Given the description of an element on the screen output the (x, y) to click on. 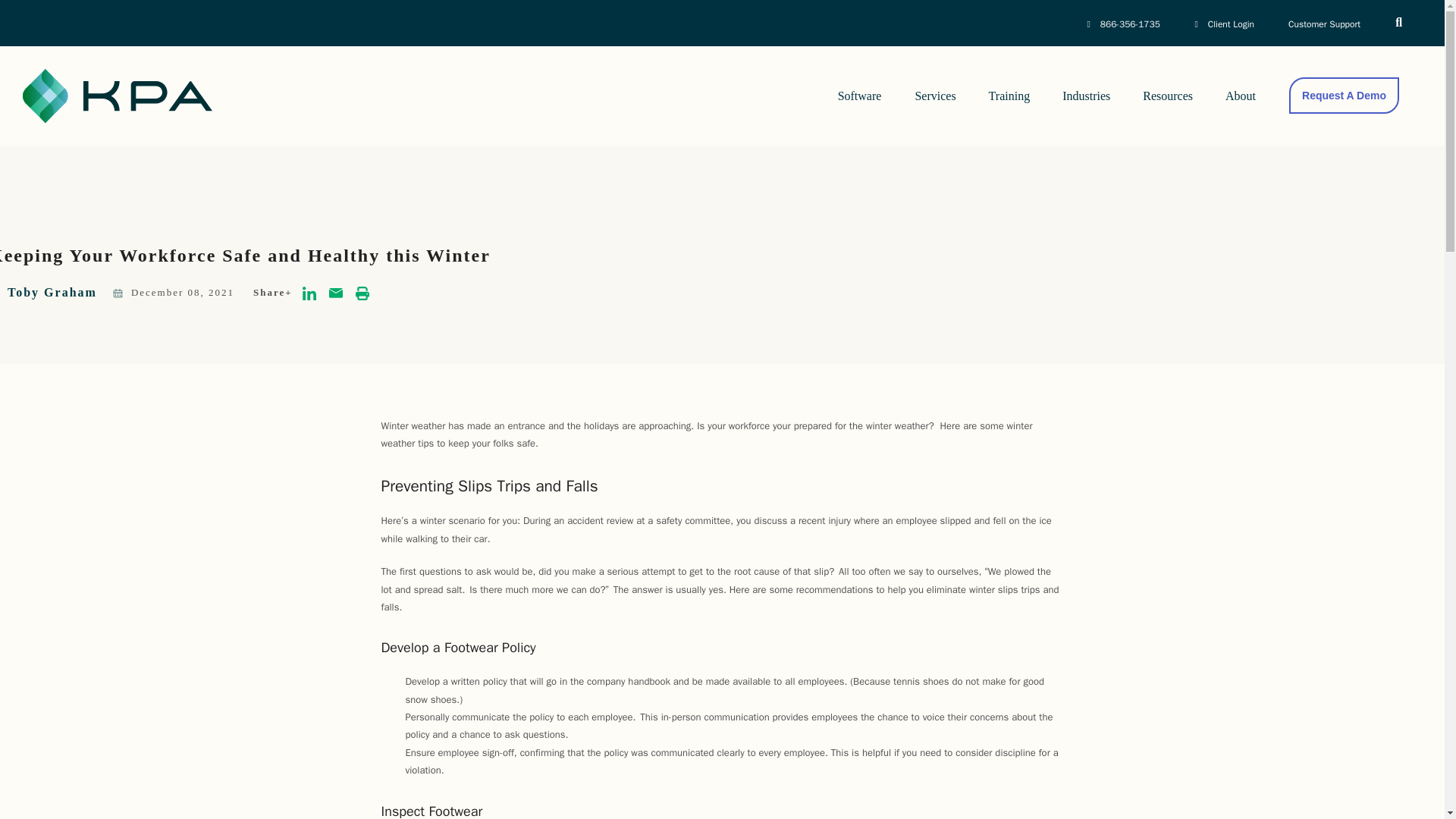
Customer Support (1323, 24)
Client Login (1223, 24)
866-356-1735 (1244, 23)
